Given the description of an element on the screen output the (x, y) to click on. 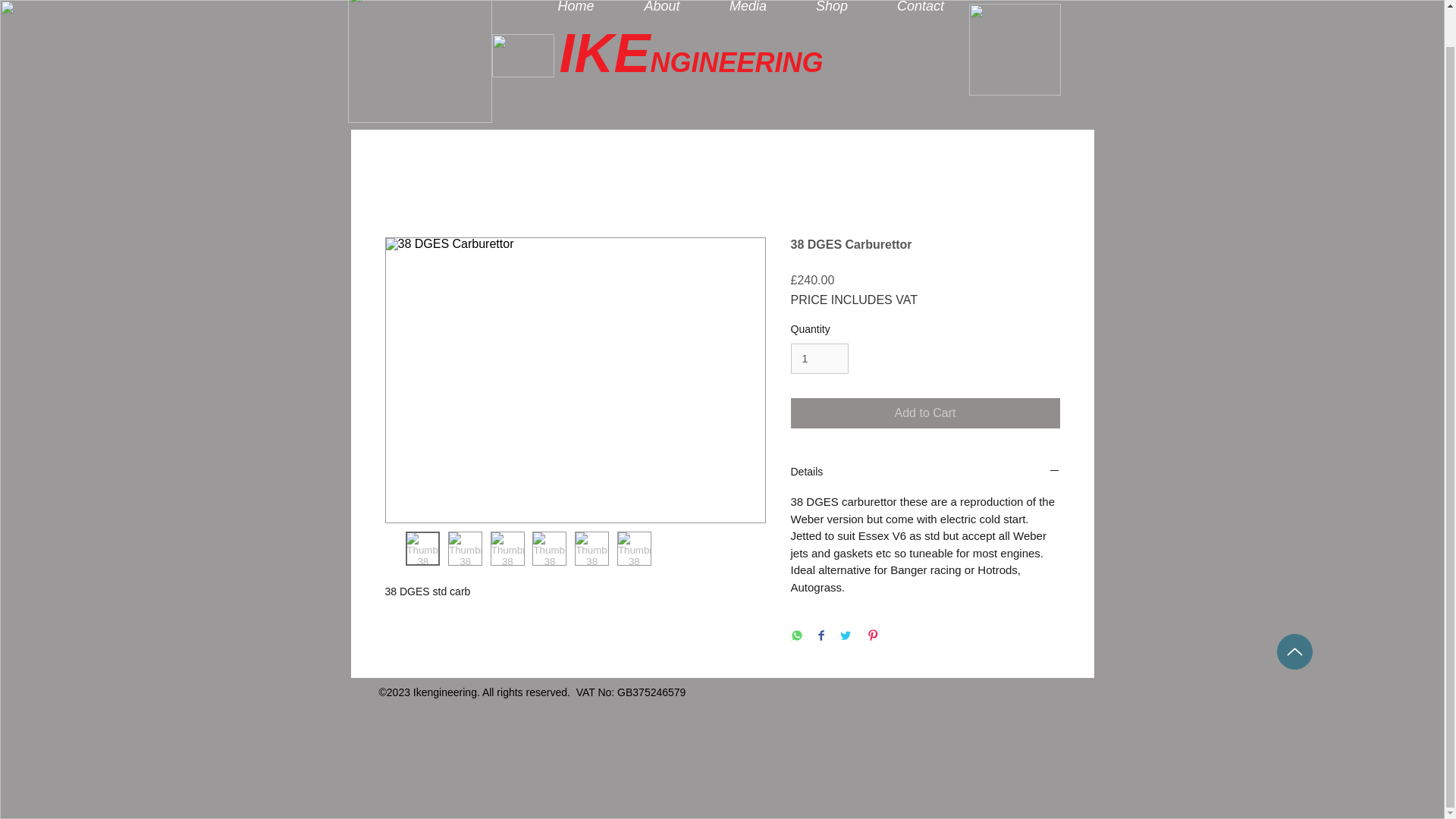
Contact (920, 10)
Details (924, 472)
Home (575, 10)
Media (748, 10)
Add to Cart (924, 413)
About (661, 10)
Shop (832, 10)
PRICE INCLUDES VAT (853, 300)
1 (818, 358)
